Given the description of an element on the screen output the (x, y) to click on. 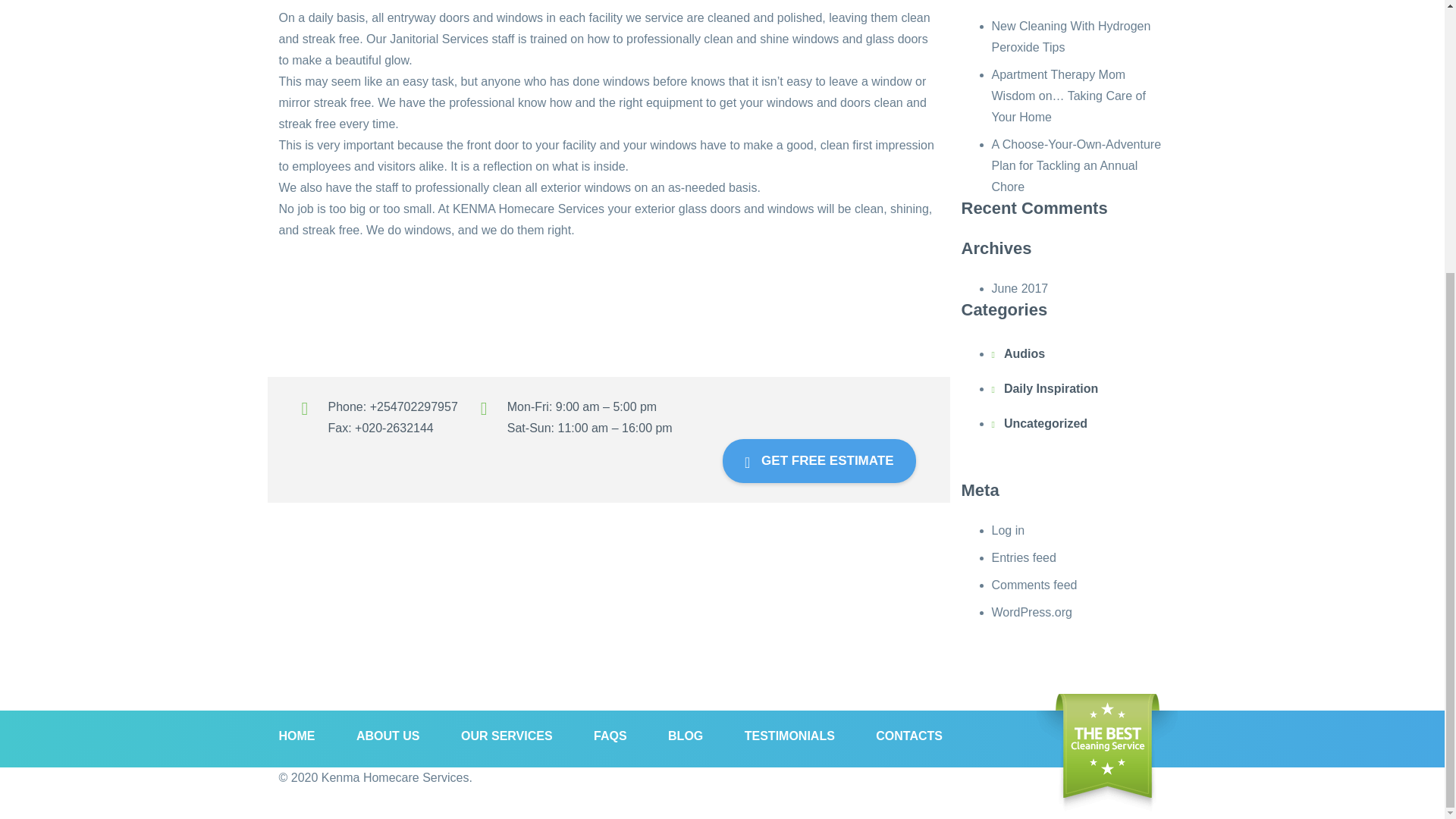
June 2017 (1019, 287)
CONTACTS (908, 735)
WordPress.org (1031, 612)
TESTIMONIALS (789, 735)
ABOUT US (388, 735)
FAQS (610, 735)
Daily Inspiration (1050, 388)
Log in (1008, 530)
HOME (306, 735)
GET FREE ESTIMATE (818, 460)
OUR SERVICES (507, 735)
Audios (1024, 353)
Entries feed (1024, 557)
BLOG (685, 735)
